Given the description of an element on the screen output the (x, y) to click on. 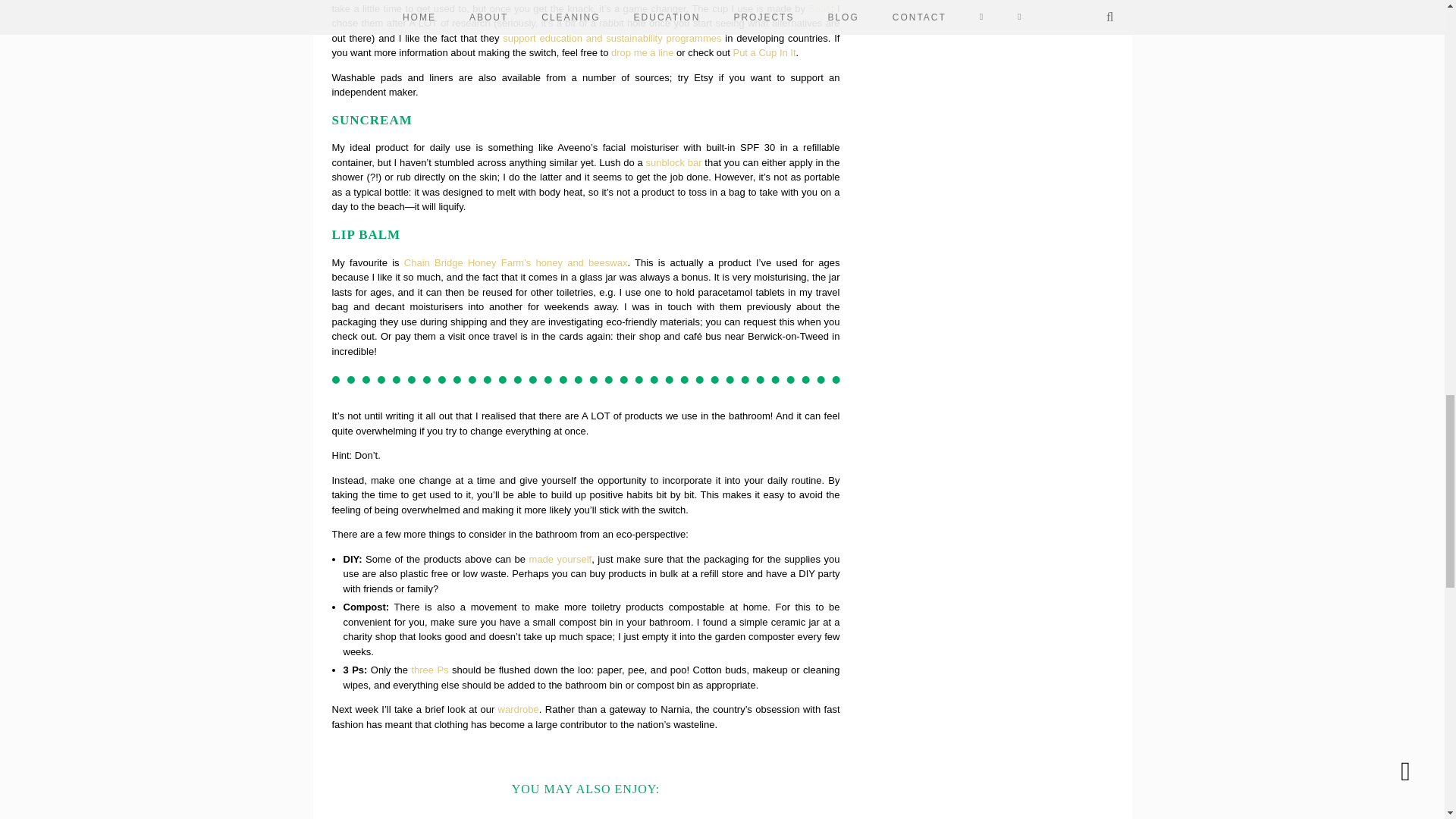
Saalt (819, 8)
support education and sustainability programmes (611, 38)
Put a Cup In It (763, 52)
made yourself (560, 559)
What a Year! (520, 812)
Housetraining the Nation (781, 812)
Tip of the Iceberg (651, 812)
There and Back Again: A Look at Litter in the US (389, 812)
sunblock bar (673, 162)
drop me a line (641, 52)
